Given the description of an element on the screen output the (x, y) to click on. 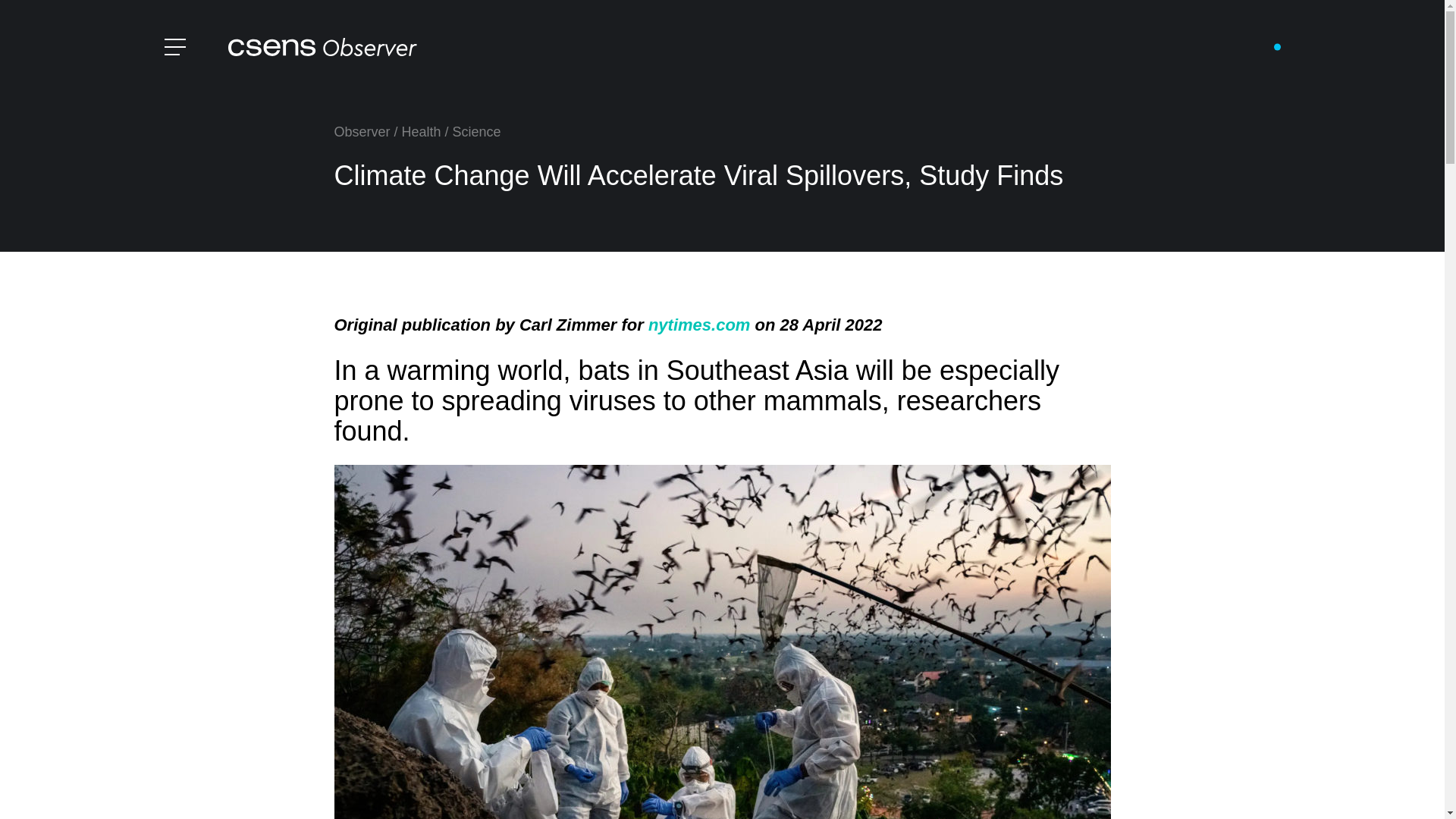
Observer (361, 131)
Science (476, 131)
Health (421, 131)
nytimes.com (699, 324)
CSENS (321, 46)
